Given the description of an element on the screen output the (x, y) to click on. 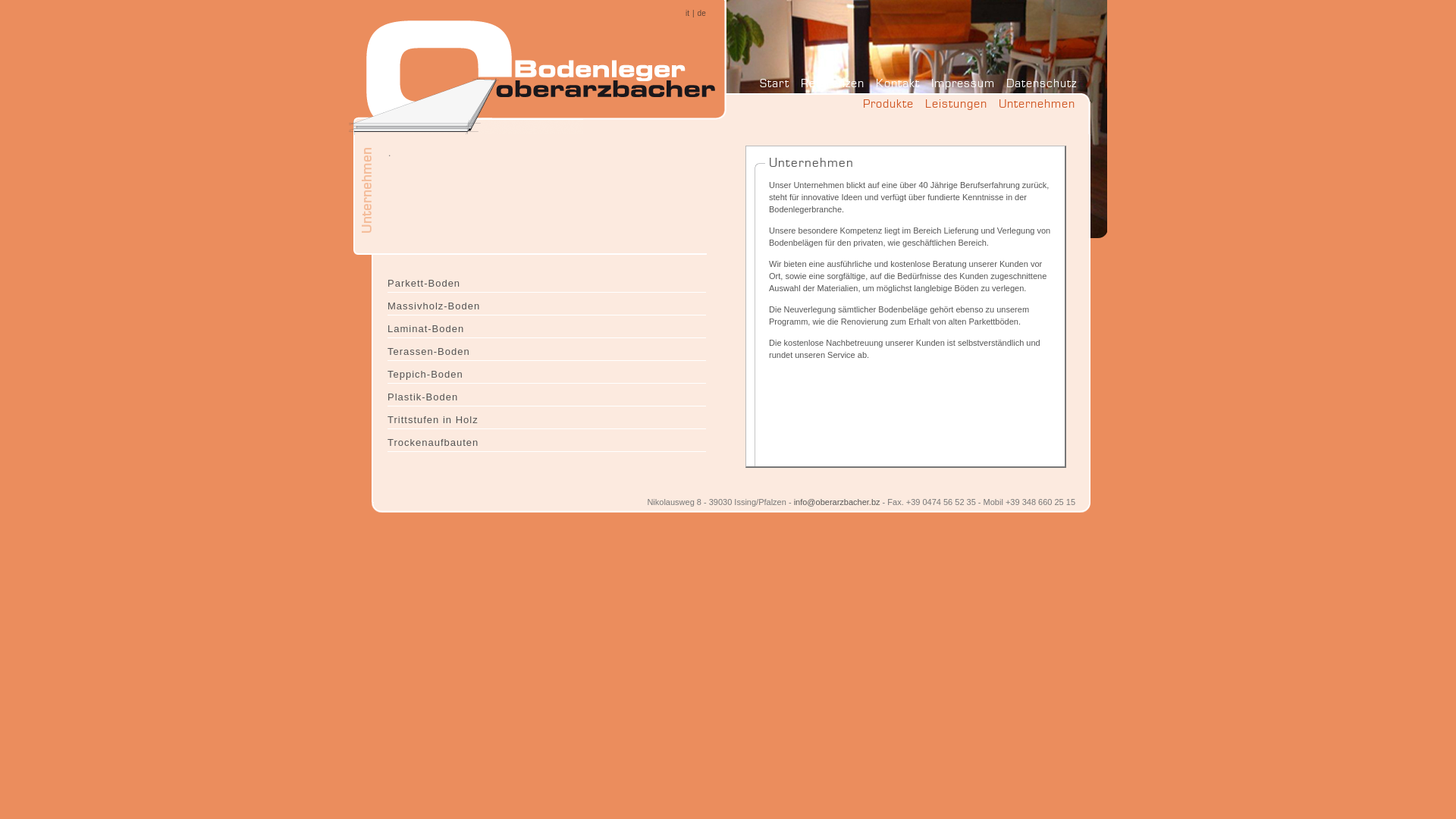
Trockenaufbauten Element type: text (546, 440)
Referenzen Element type: text (832, 82)
Unternehmen Element type: text (1036, 107)
Plastik-Boden Element type: text (546, 394)
Produkte Element type: text (888, 107)
Leistungen Element type: text (956, 107)
Massivholz-Boden Element type: text (546, 303)
it Element type: text (687, 13)
Datenschutz Element type: text (1041, 82)
Unternehmen Element type: text (401, 154)
Teppich-Boden Element type: text (546, 371)
info@oberarzbacher.bz Element type: text (836, 501)
Laminat-Boden Element type: text (546, 326)
Impressum Element type: text (962, 82)
Terassen-Boden Element type: text (546, 349)
Parkett-Boden Element type: text (546, 280)
Startseite Element type: hover (538, 69)
Kontakt Element type: text (897, 82)
de Element type: text (701, 13)
Start Element type: text (774, 82)
Trittstufen in Holz Element type: text (546, 417)
